Given the description of an element on the screen output the (x, y) to click on. 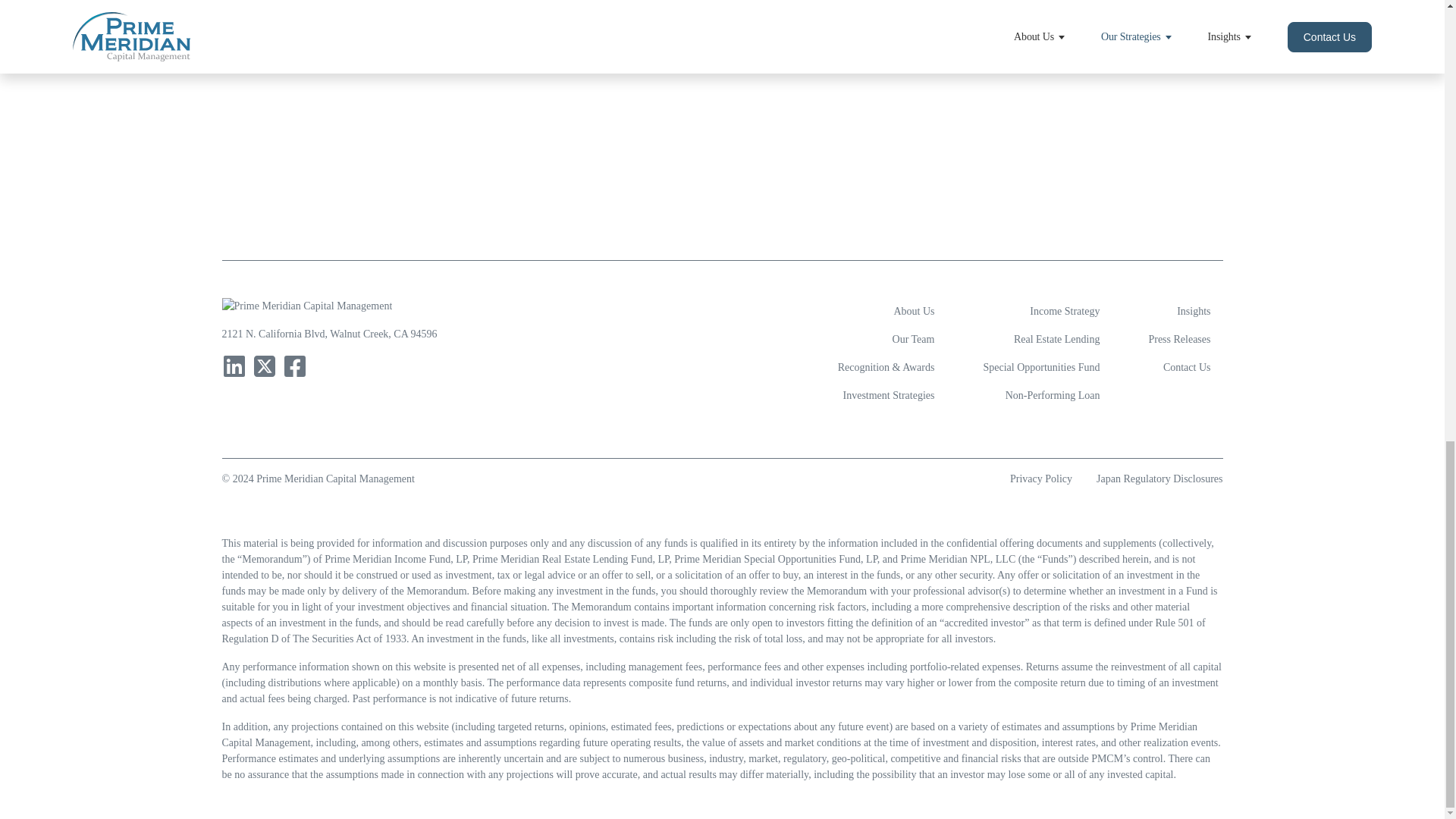
Income Strategy (1047, 311)
Non-Performing Loan (1047, 395)
Special Opportunities Fund (1047, 366)
Insights (1185, 311)
Our Team (892, 338)
Contact Us (1185, 366)
Press Releases (1185, 338)
Investment Strategies (892, 395)
Real Estate Lending (1047, 338)
Privacy Policy (1047, 479)
